Given the description of an element on the screen output the (x, y) to click on. 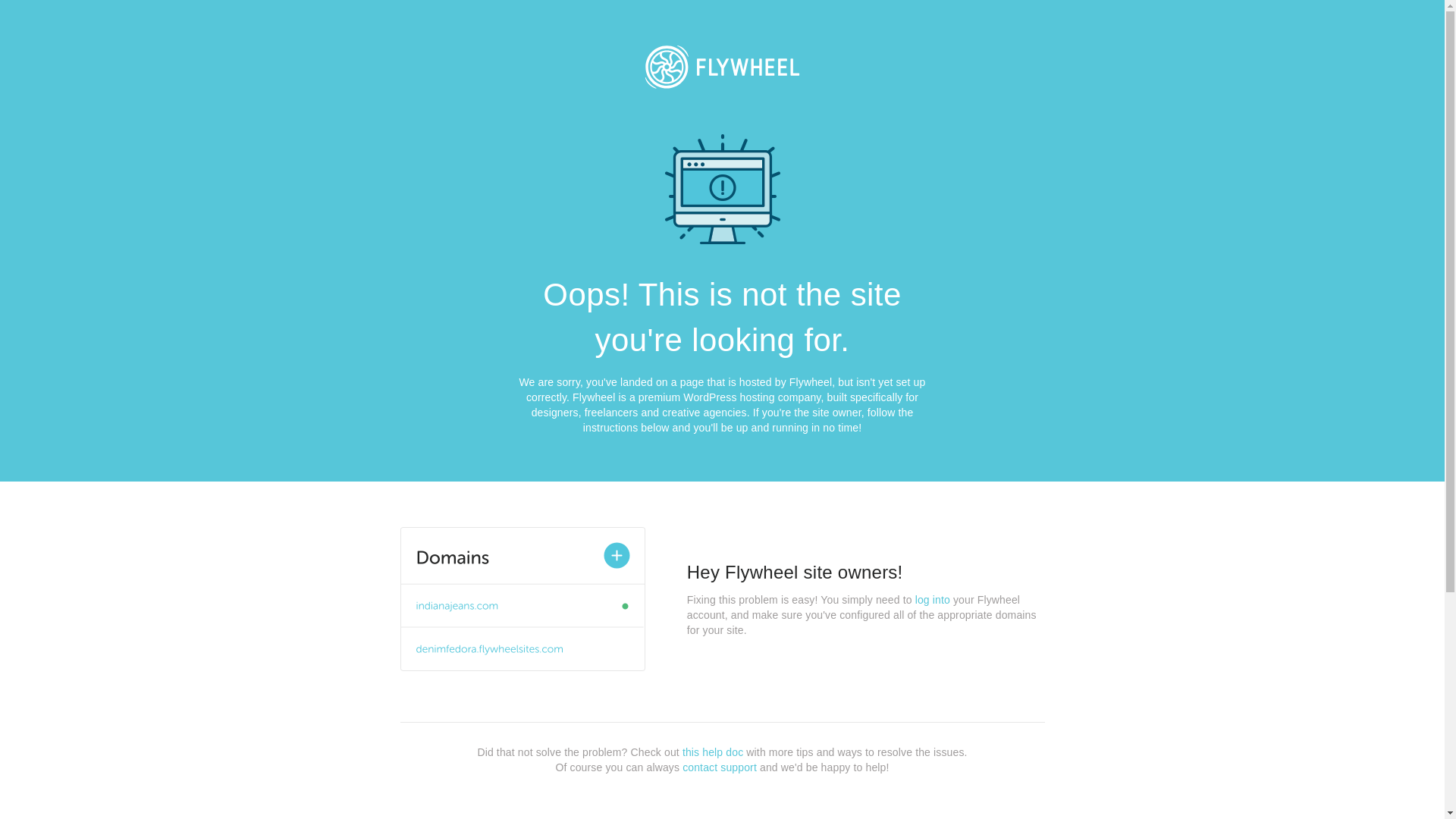
log into (932, 599)
contact support (719, 767)
this help doc (712, 752)
